Given the description of an element on the screen output the (x, y) to click on. 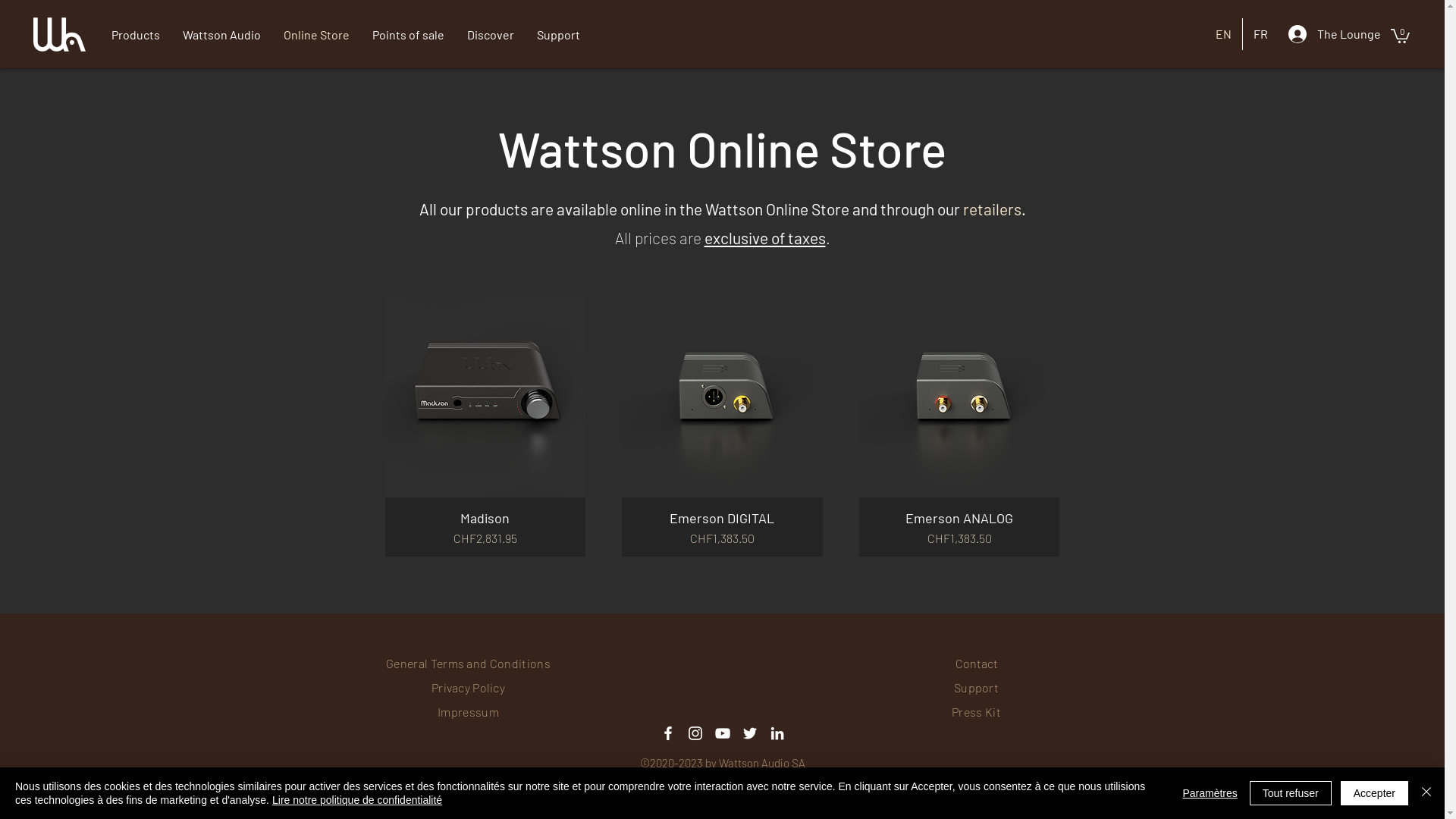
Press Kit Element type: text (976, 711)
The Lounge Element type: text (1333, 33)
Contact Element type: text (976, 662)
Emerson ANALOG
Price
CHF1,383.50 Element type: text (959, 528)
Impressum Element type: text (467, 711)
Emerson DIGITAL
Price
CHF1,383.50 Element type: text (721, 528)
FR Element type: text (1260, 34)
Support Element type: text (558, 34)
General Terms and Conditions Element type: text (467, 662)
Points of sale Element type: text (407, 34)
Online Store Element type: text (316, 34)
Tout refuser Element type: text (1290, 793)
Products Element type: text (135, 34)
Support Element type: text (975, 687)
Privacy Policy Element type: text (468, 687)
retailers Element type: text (992, 208)
EN Element type: text (1223, 34)
0 Element type: text (1399, 35)
Madison
Price
CHF2,831.95 Element type: text (485, 528)
Accepter Element type: text (1374, 793)
